Given the description of an element on the screen output the (x, y) to click on. 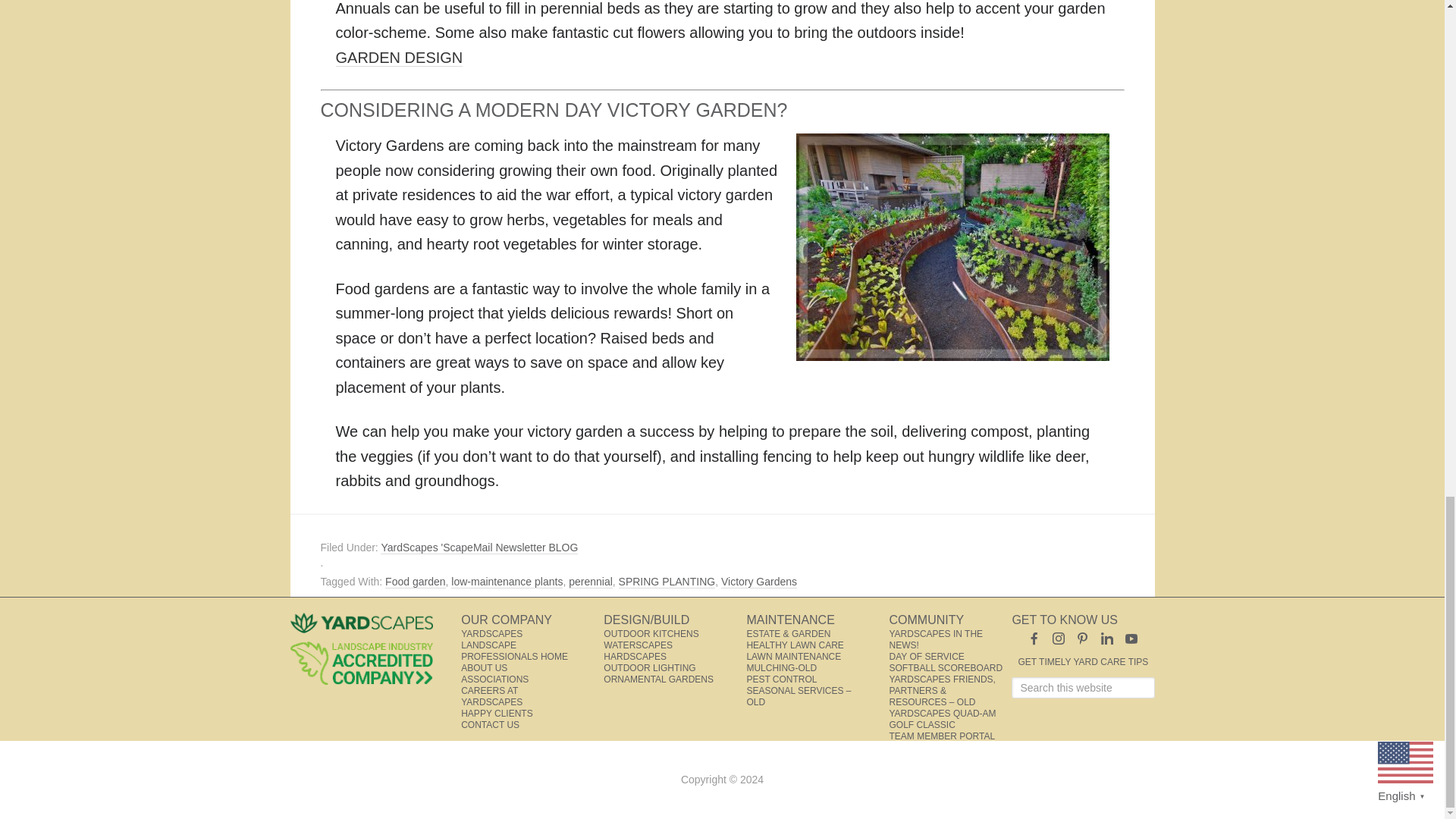
Search (1161, 676)
Search (1161, 676)
